Given the description of an element on the screen output the (x, y) to click on. 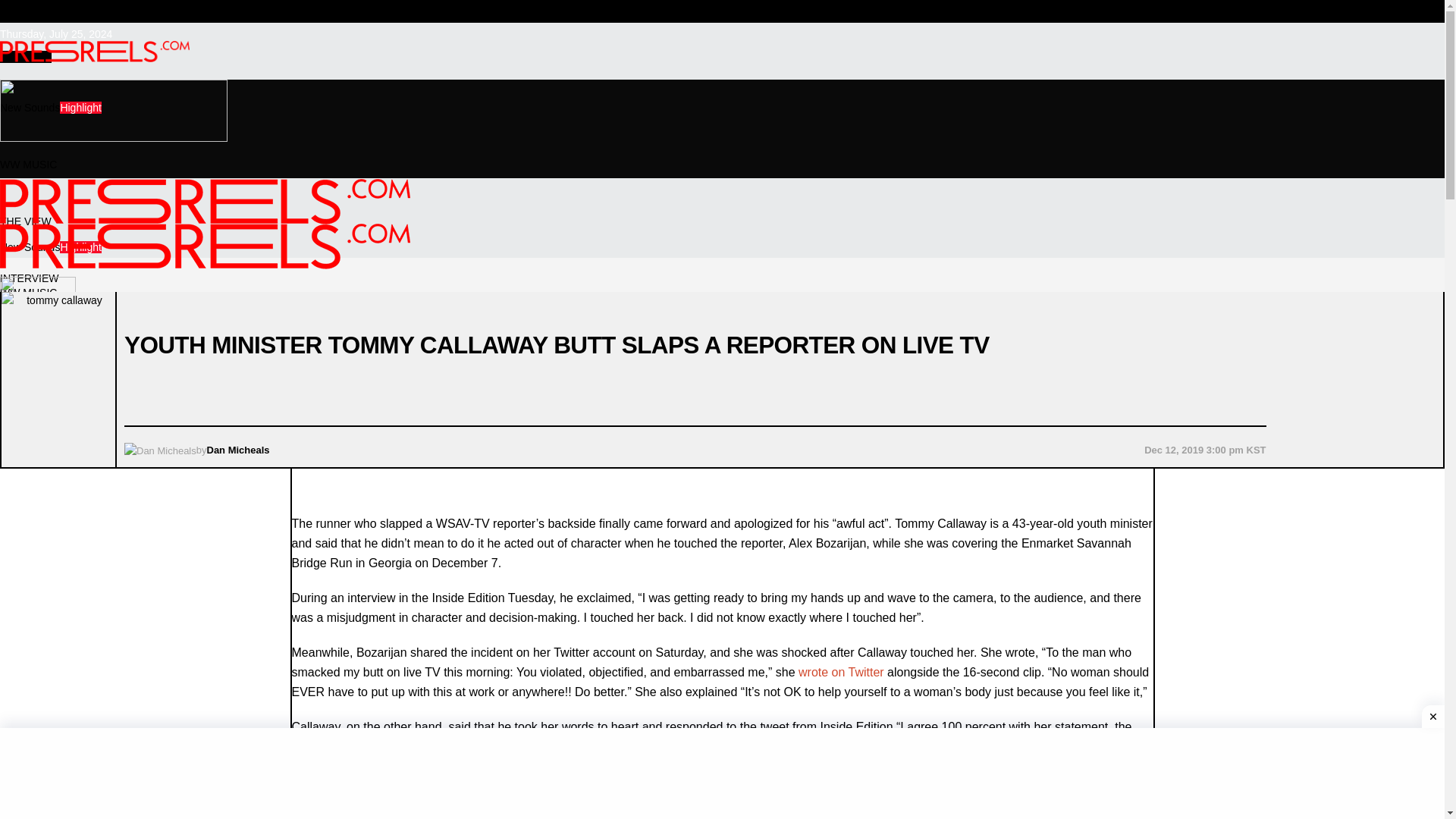
Music (13, 676)
Video (13, 449)
POP (11, 733)
THE VIEW (25, 221)
WW MUSIC (28, 164)
Media (14, 619)
CELEB (17, 562)
THE VIEW (25, 56)
Review (17, 391)
Latin (11, 789)
INTERVIEW (29, 277)
New SoundsHighlight (50, 246)
Discovery (23, 505)
New SoundsHighlight (50, 107)
Original (18, 335)
